Given the description of an element on the screen output the (x, y) to click on. 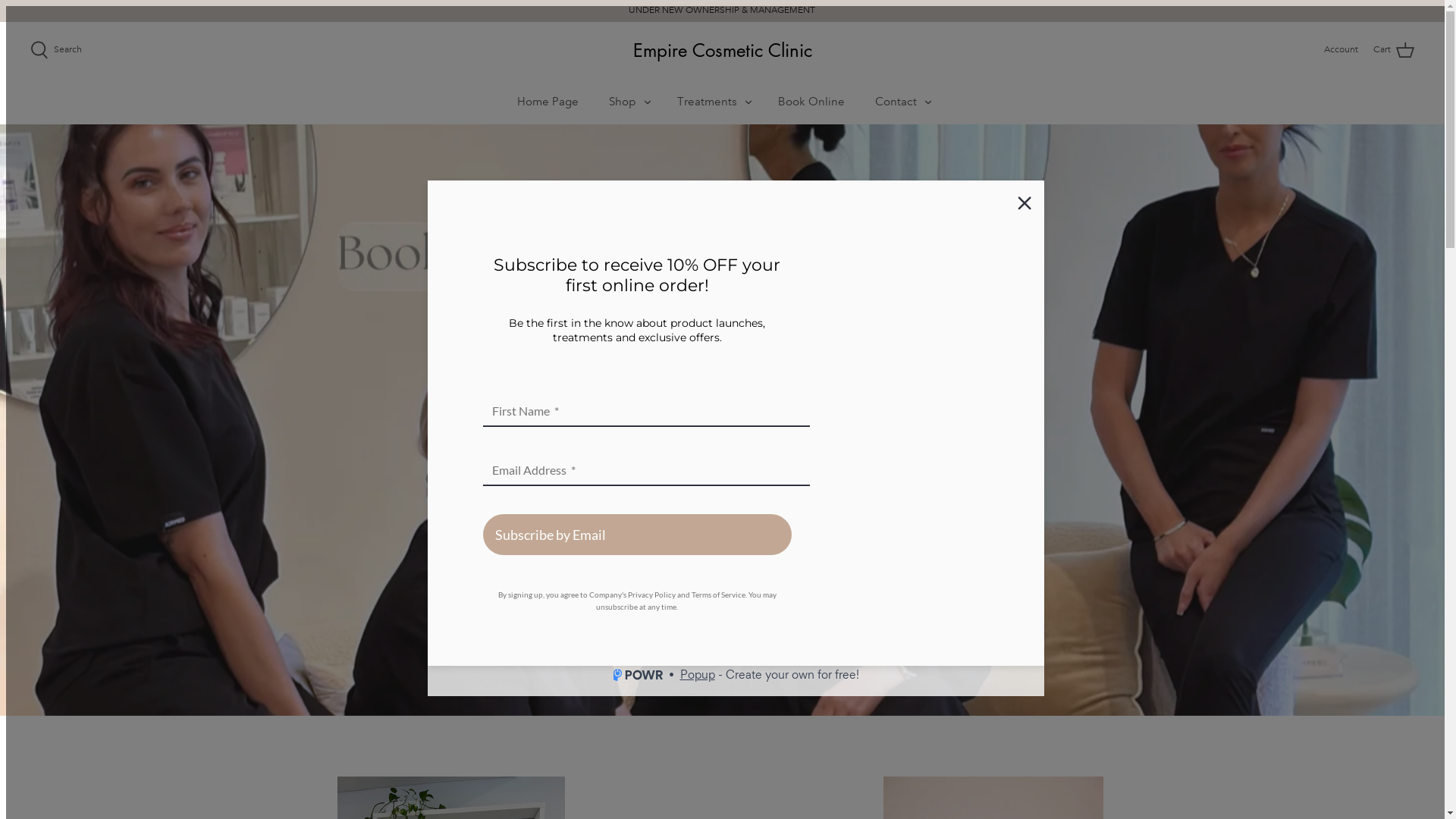
Contact Element type: text (895, 101)
Empire Cosmetic Clinic Element type: text (721, 50)
Search Element type: text (55, 49)
Toggle menu Element type: text (647, 101)
Shop Element type: text (622, 101)
Toggle menu Element type: text (927, 101)
UNDER NEW OWNERSHIP & MANAGEMENT Element type: text (721, 10)
Account Element type: text (1341, 49)
Book Online Element type: text (811, 101)
Toggle menu Element type: text (748, 101)
Home Page Element type: text (547, 101)
Cart Element type: text (1393, 49)
Treatments Element type: text (706, 101)
